Given the description of an element on the screen output the (x, y) to click on. 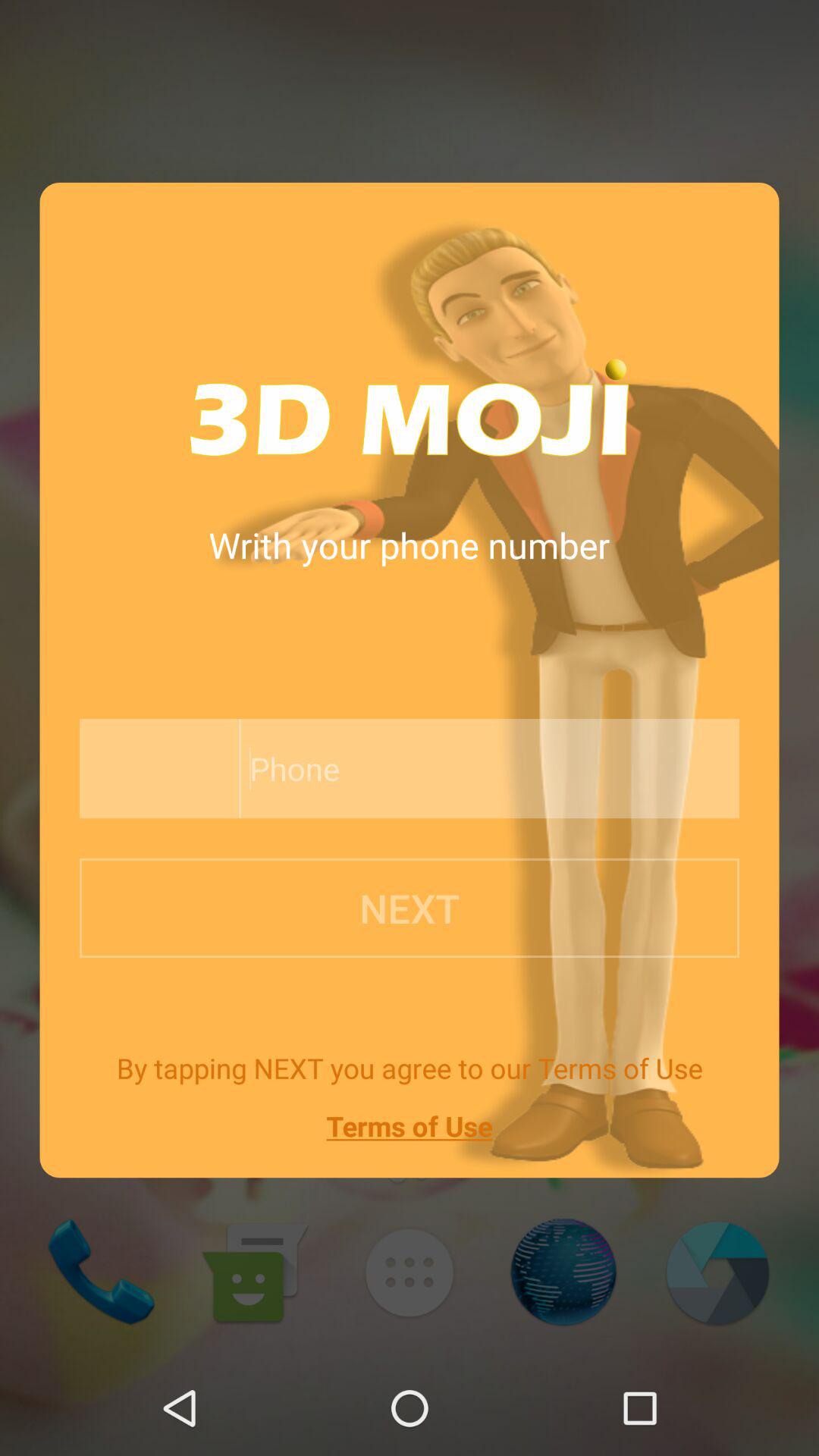
enter phone number (154, 768)
